Given the description of an element on the screen output the (x, y) to click on. 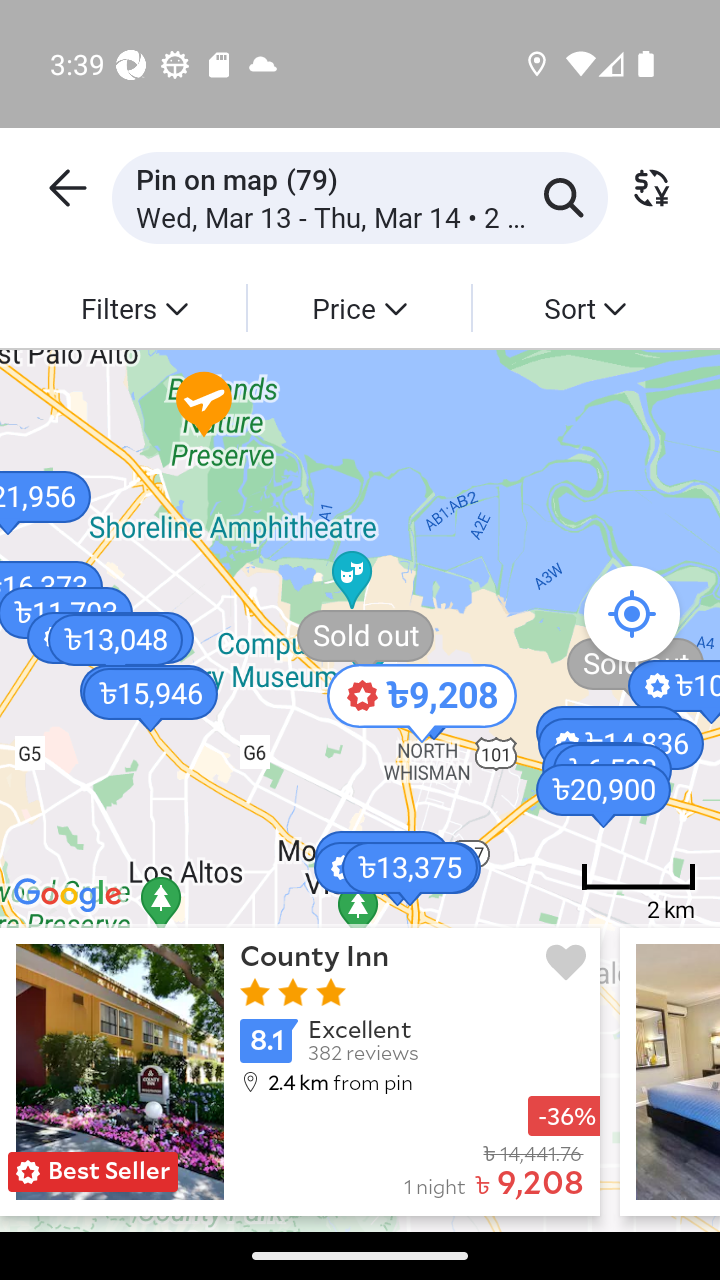
Filters (134, 307)
Price (358, 307)
Sort (584, 307)
